Given the description of an element on the screen output the (x, y) to click on. 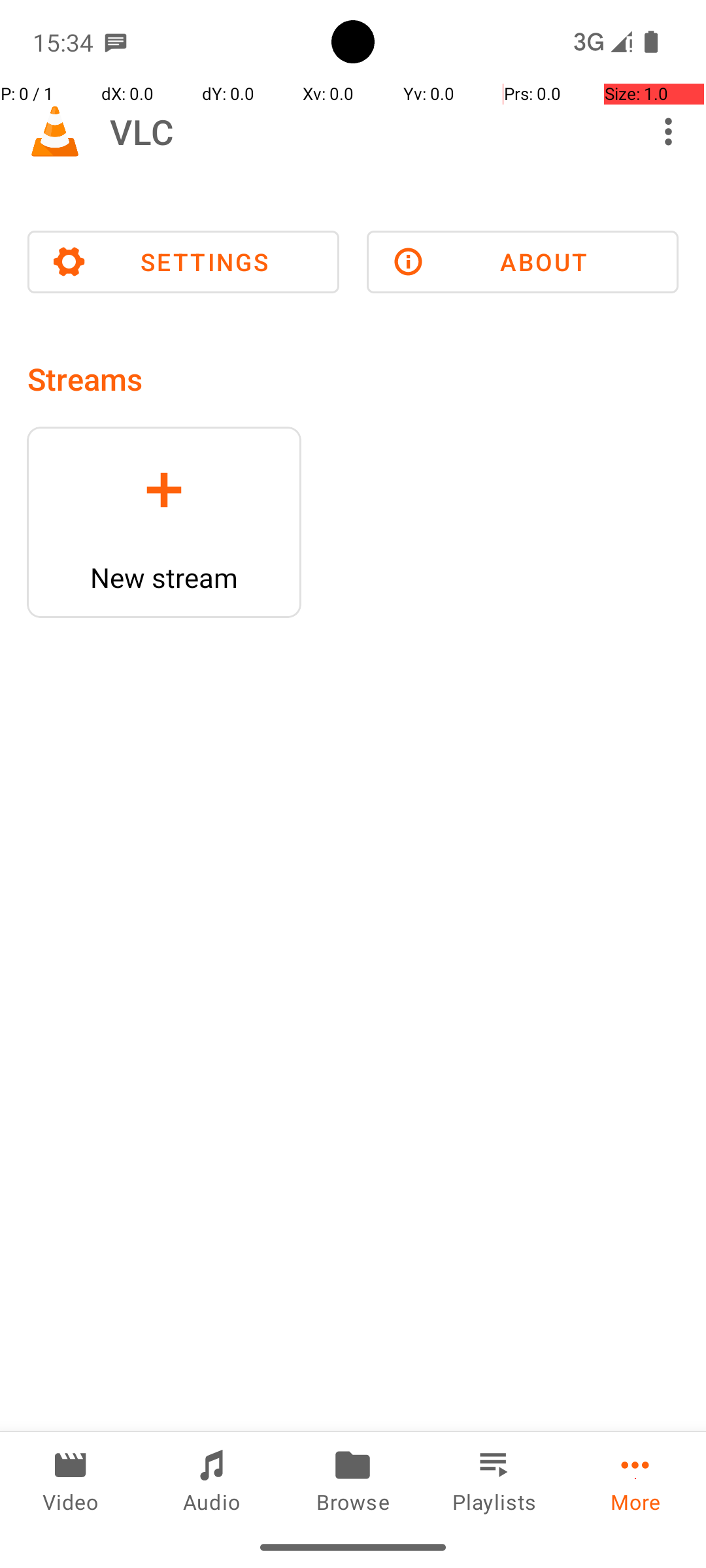
SETTINGS Element type: android.widget.Button (183, 261)
ABOUT Element type: android.widget.Button (522, 261)
Streams Element type: android.widget.TextView (84, 378)
New stream Element type: android.widget.TextView (163, 576)
